Given the description of an element on the screen output the (x, y) to click on. 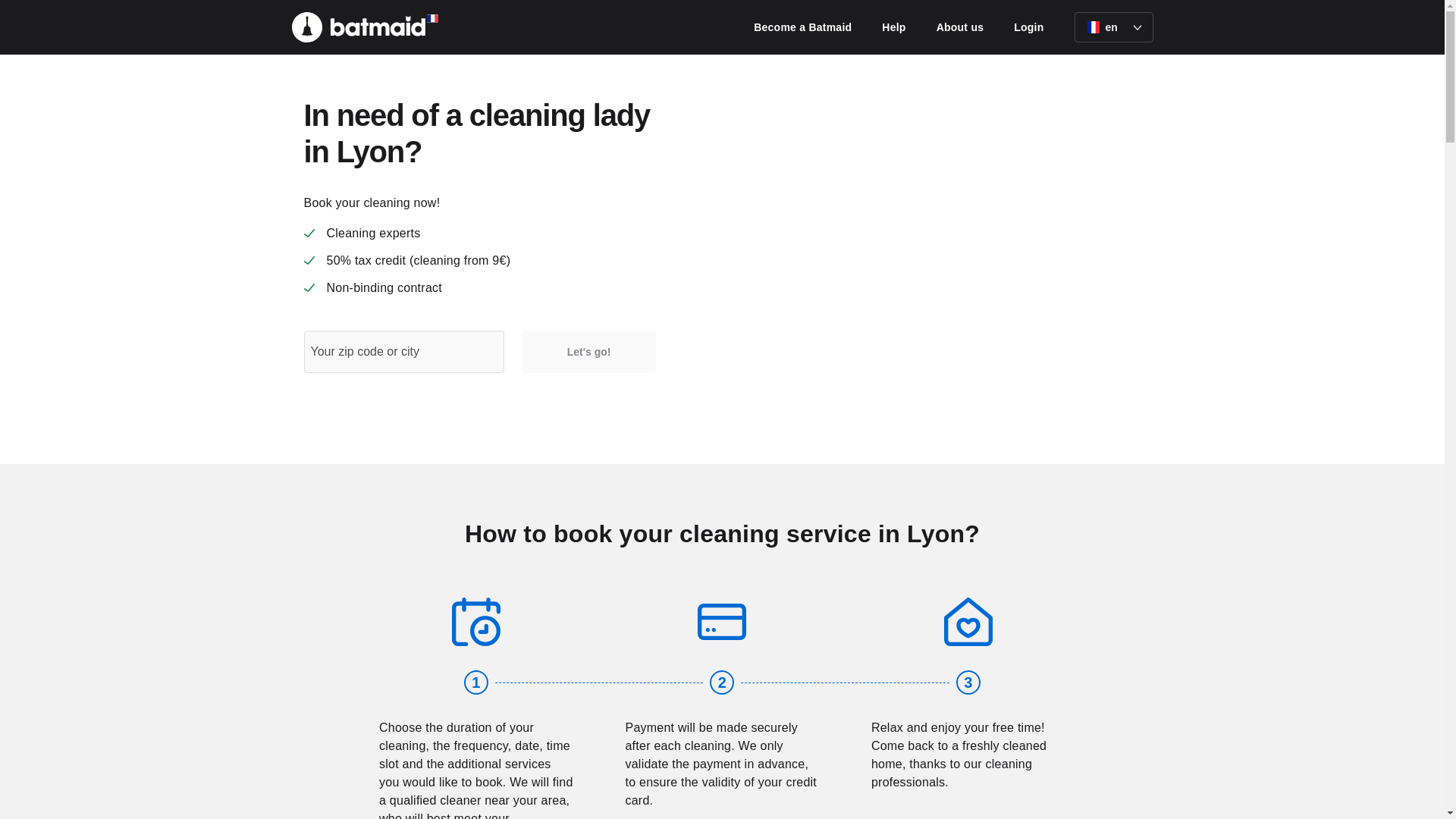
Let's go! (589, 351)
Help (893, 27)
en (1113, 27)
Become a Batmaid (802, 27)
Login (1028, 27)
About us (960, 27)
